Given the description of an element on the screen output the (x, y) to click on. 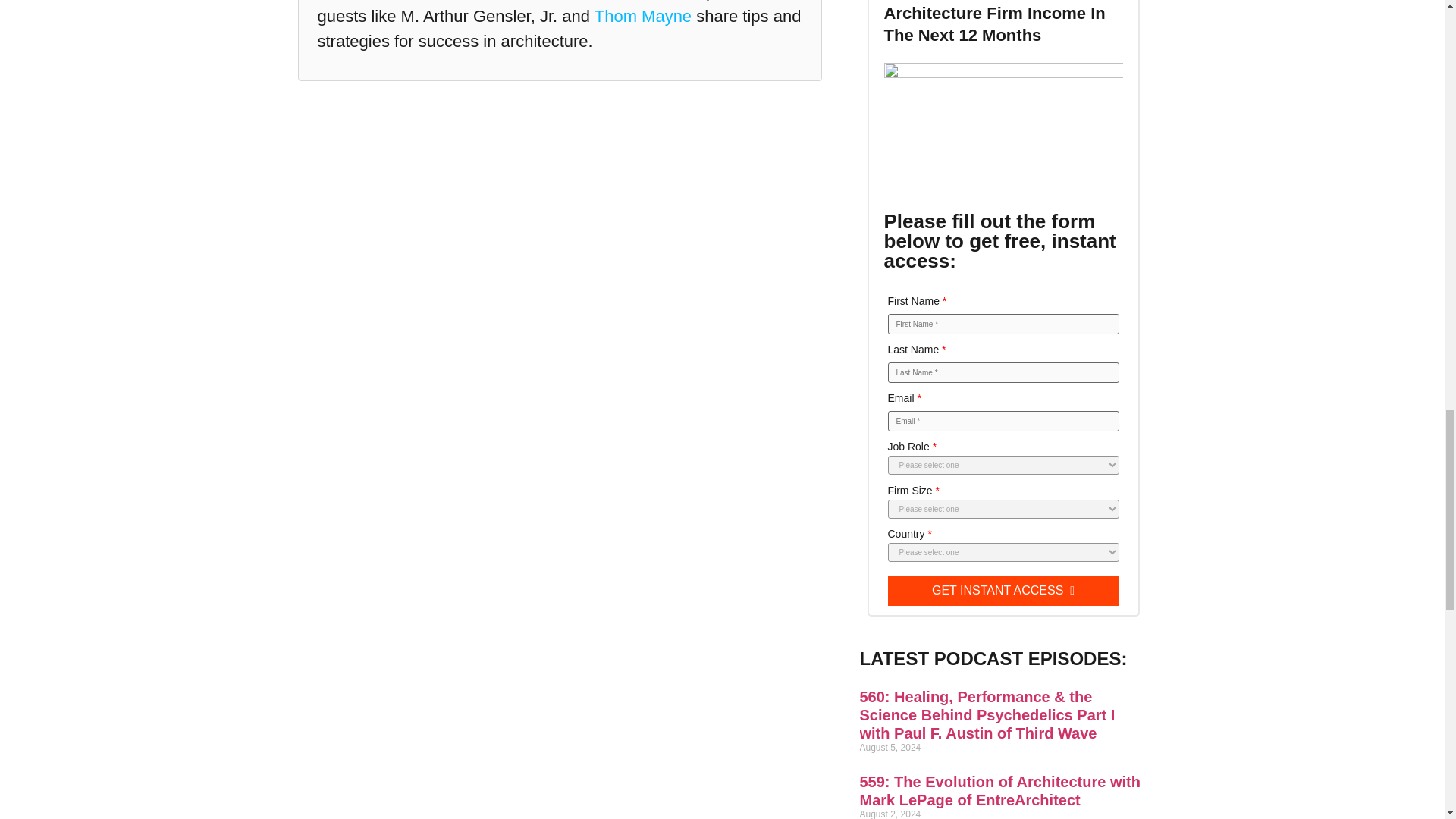
GET INSTANT ACCESS   (1002, 590)
Thom Mayne (642, 15)
